Given the description of an element on the screen output the (x, y) to click on. 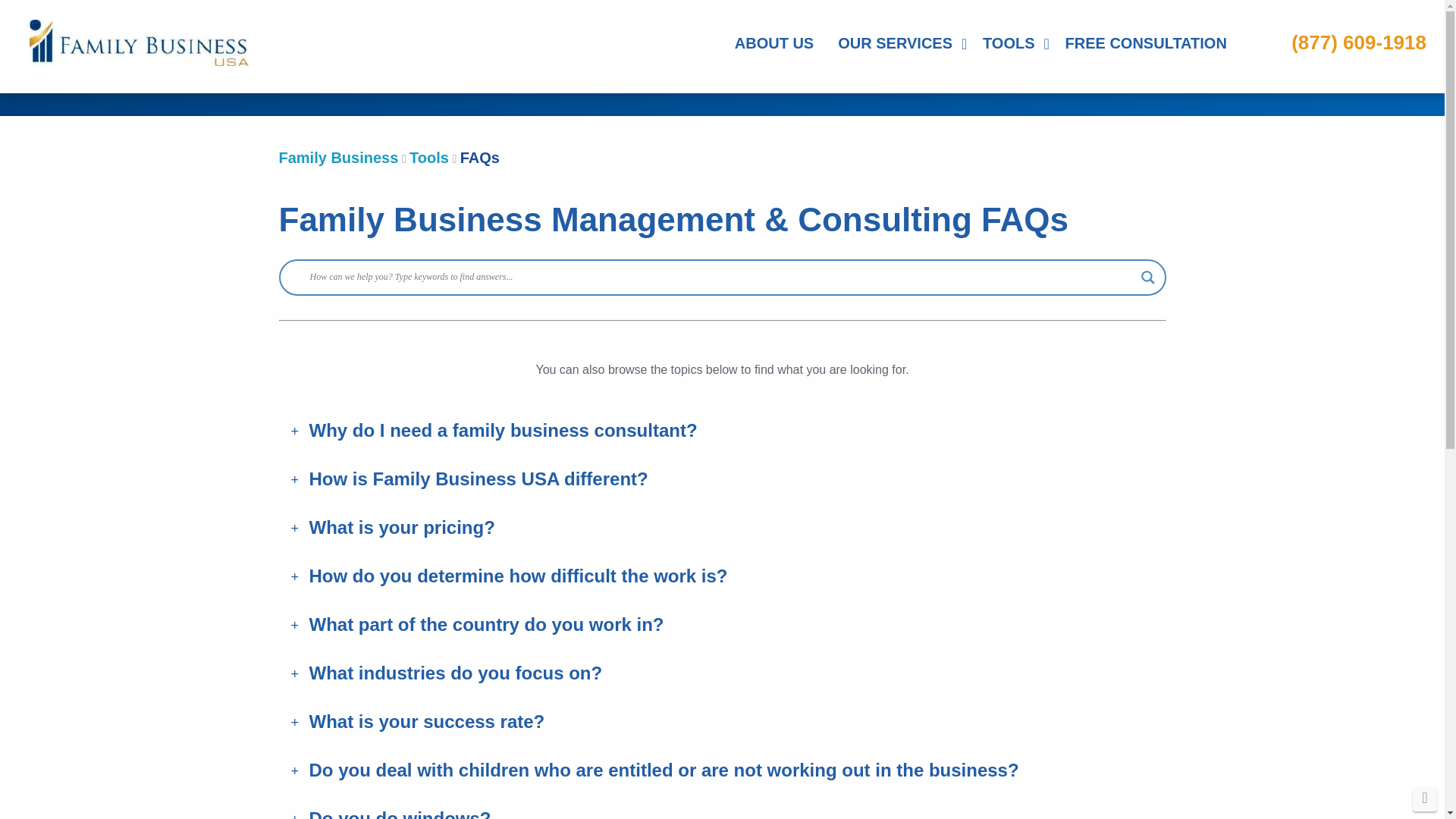
ABOUT US (773, 42)
Family Business Tools (1011, 42)
TOOLS (1011, 42)
Family Business (338, 157)
How is Family Business USA different? (722, 479)
What is your pricing? (722, 527)
FREE CONSULTATION (1145, 42)
Why do I need a family business consultant? (722, 430)
Family Business Services (898, 42)
OUR SERVICES (898, 42)
About Family Business USA (773, 42)
Tools (428, 157)
